Given the description of an element on the screen output the (x, y) to click on. 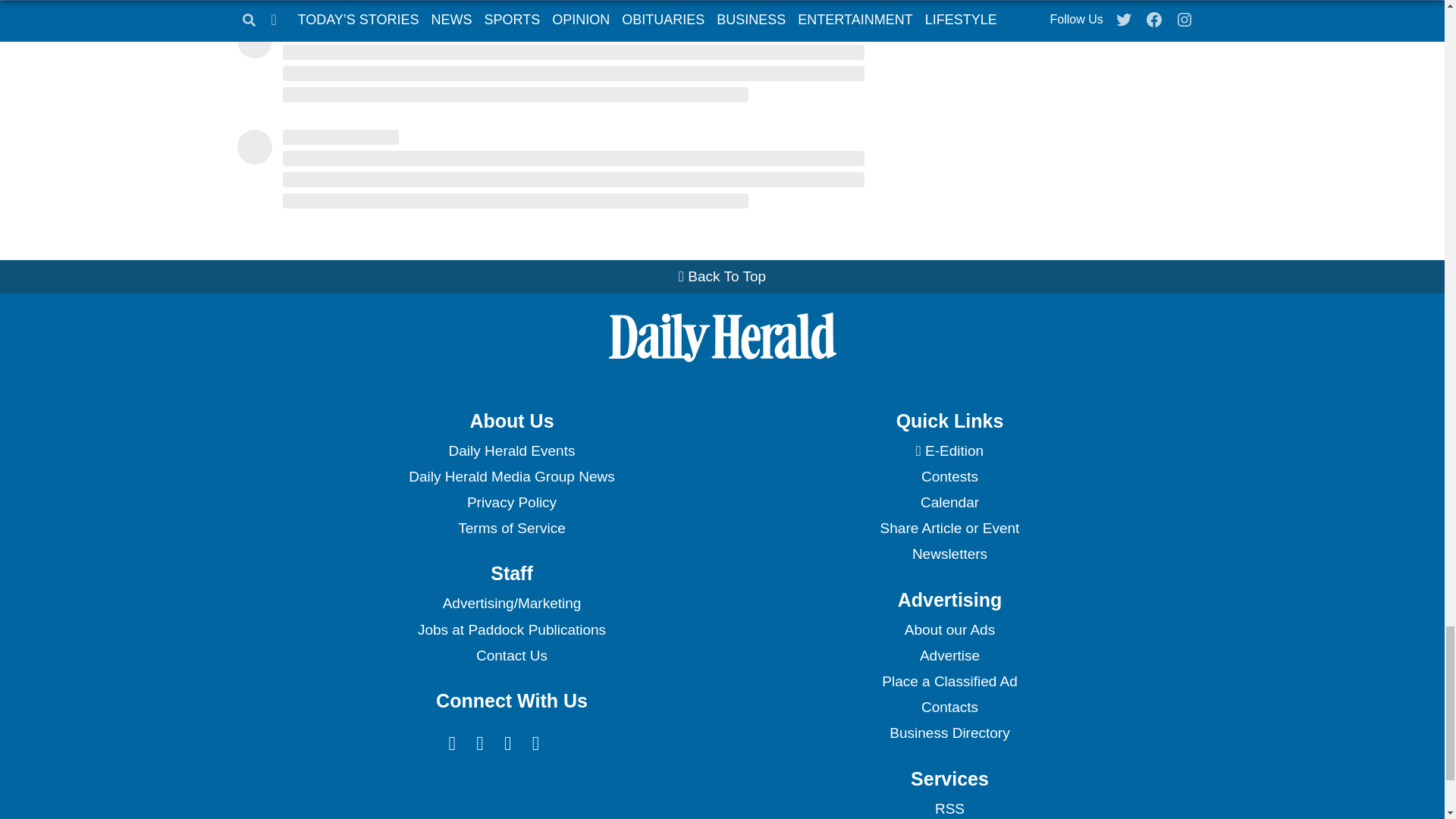
Contact Us (511, 655)
Daily Herald Digital Newspaper (949, 451)
Terms of Service (511, 528)
Privacy Policy (511, 502)
Daily Herald Events (511, 451)
Contests (949, 476)
Jobs at Paddock Publications (511, 629)
Daily Herald Media Group News (511, 476)
